Given the description of an element on the screen output the (x, y) to click on. 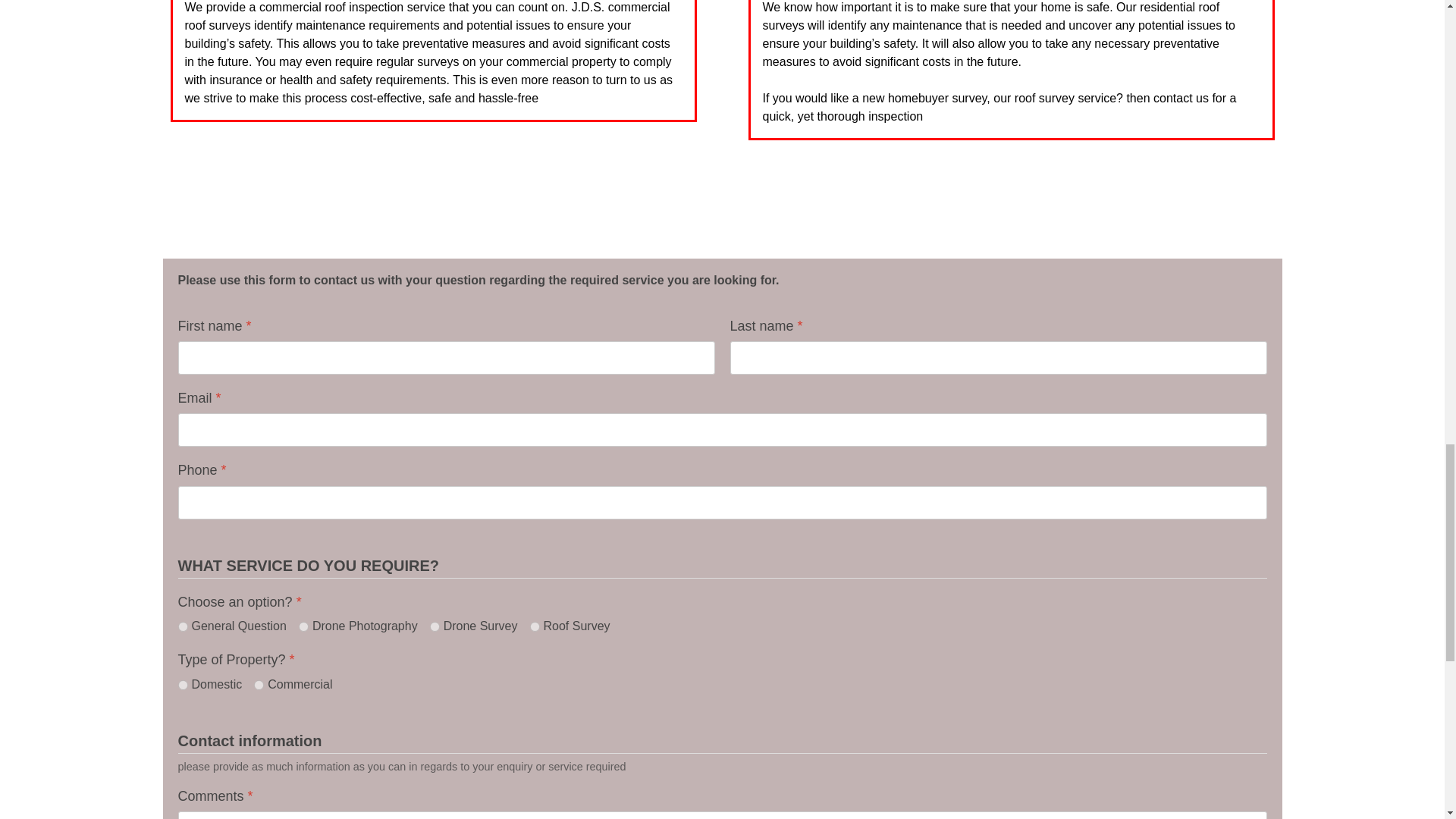
General Question (182, 626)
Domestic (182, 685)
Roof Survey (533, 626)
Drone Survey (434, 626)
Drone Photography (303, 626)
Commercial (258, 685)
